Given the description of an element on the screen output the (x, y) to click on. 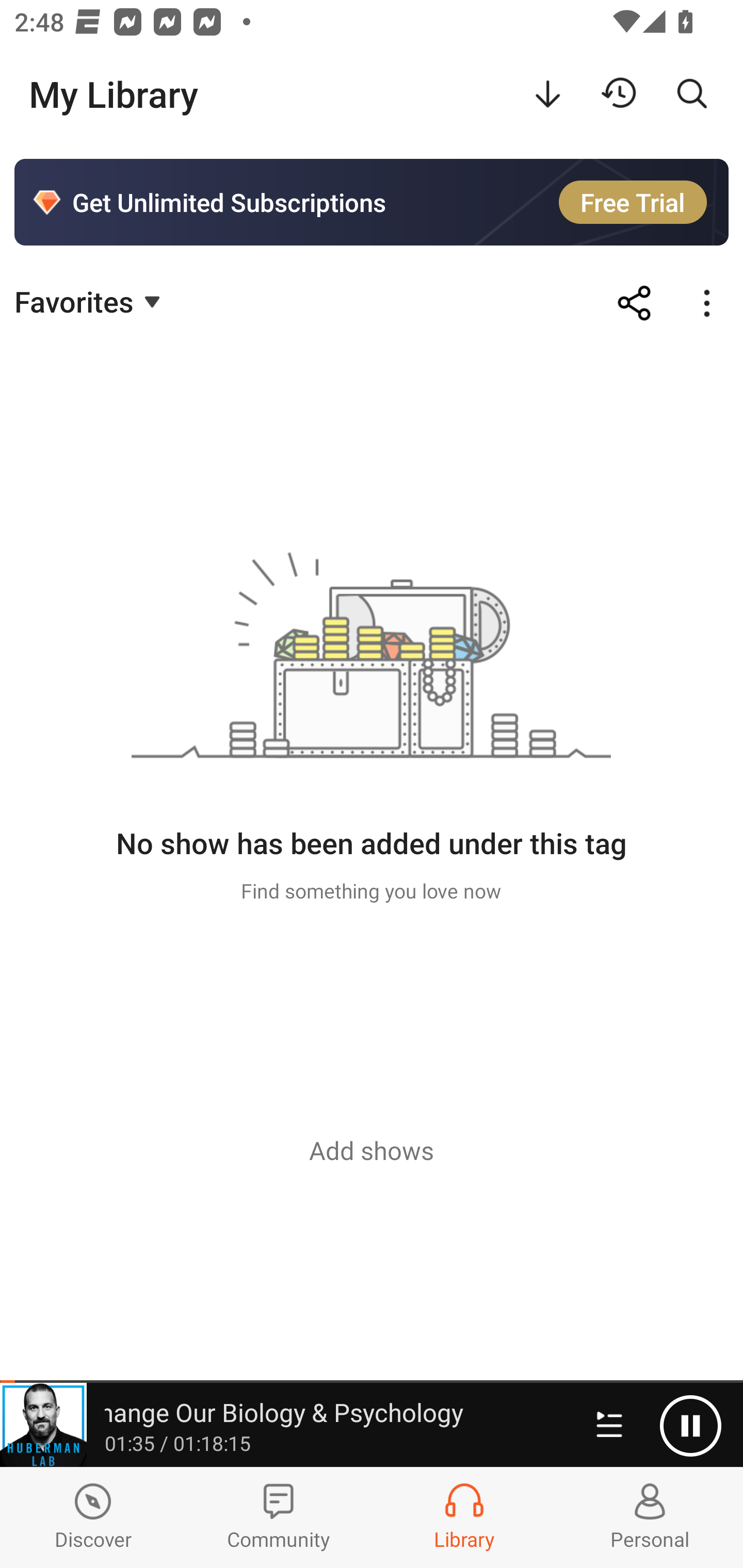
Get Unlimited Subscriptions Free Trial (371, 202)
Free Trial (632, 202)
Favorites (90, 300)
Add shows (371, 1150)
Pause (690, 1425)
Discover (92, 1517)
Community (278, 1517)
Library (464, 1517)
Profiles and Settings Personal (650, 1517)
